Given the description of an element on the screen output the (x, y) to click on. 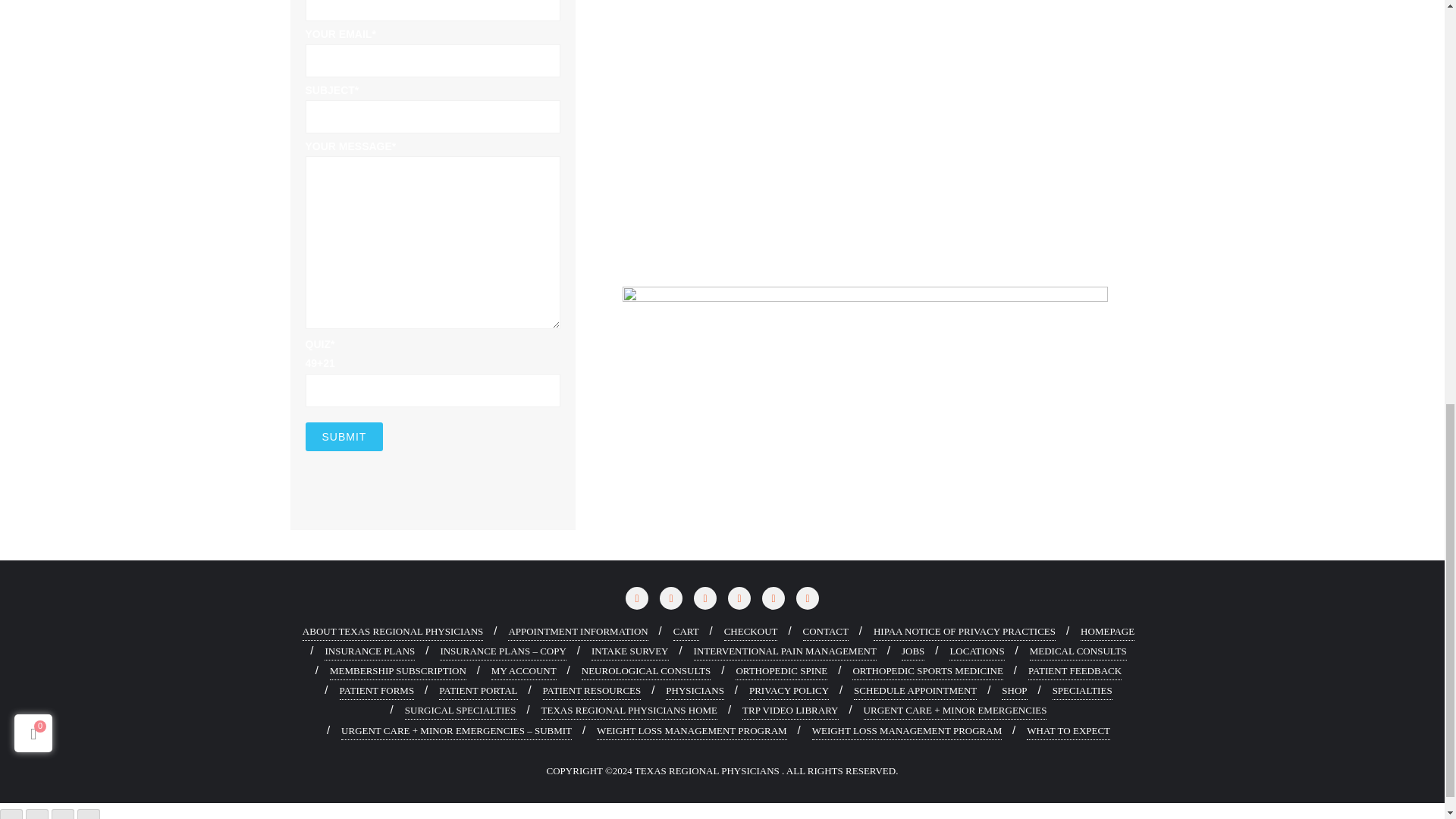
Submit (343, 436)
